Given the description of an element on the screen output the (x, y) to click on. 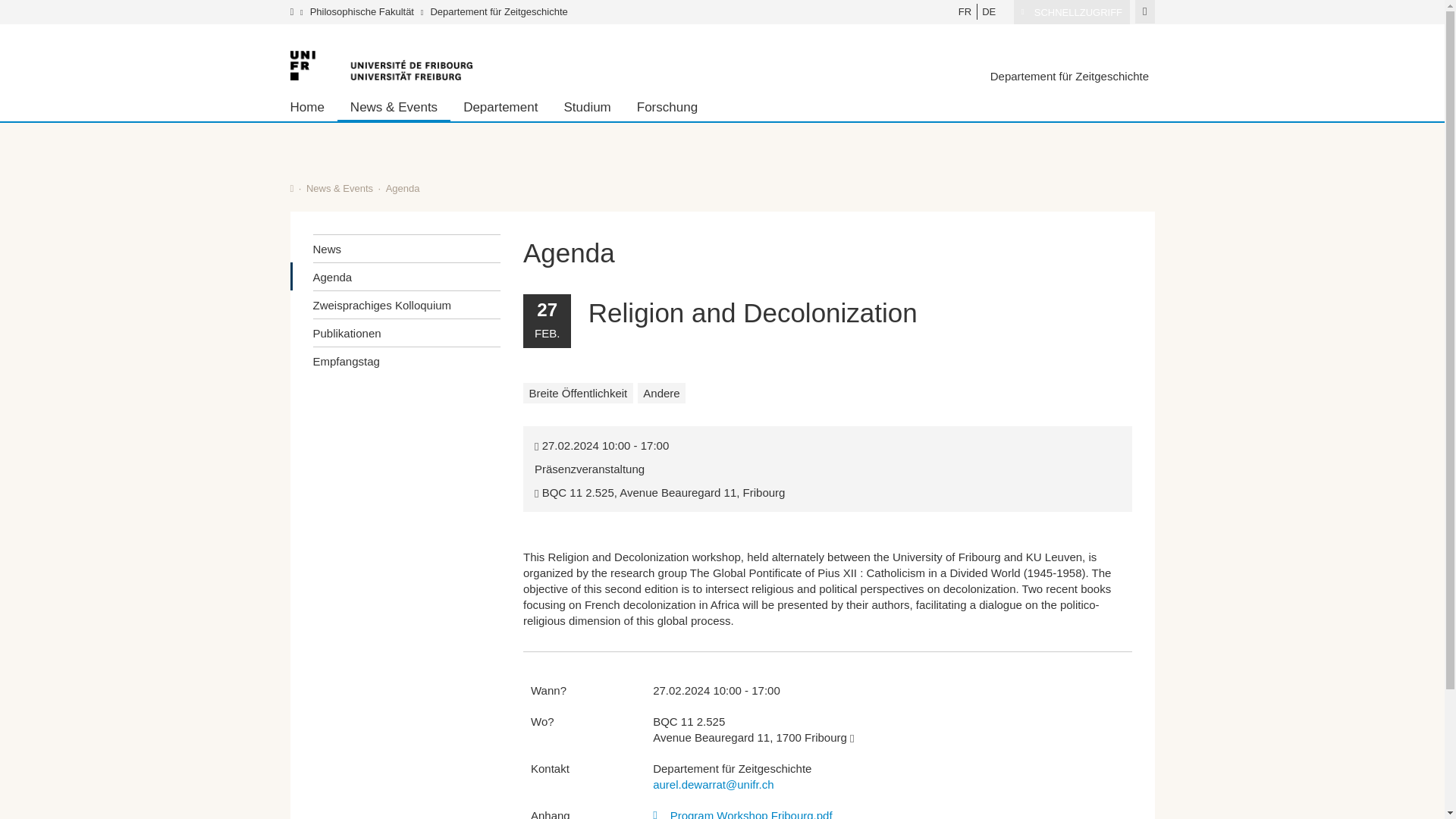
SCHNELLZUGRIFF (1071, 12)
FR (964, 11)
Home (312, 106)
DE (988, 11)
